Given the description of an element on the screen output the (x, y) to click on. 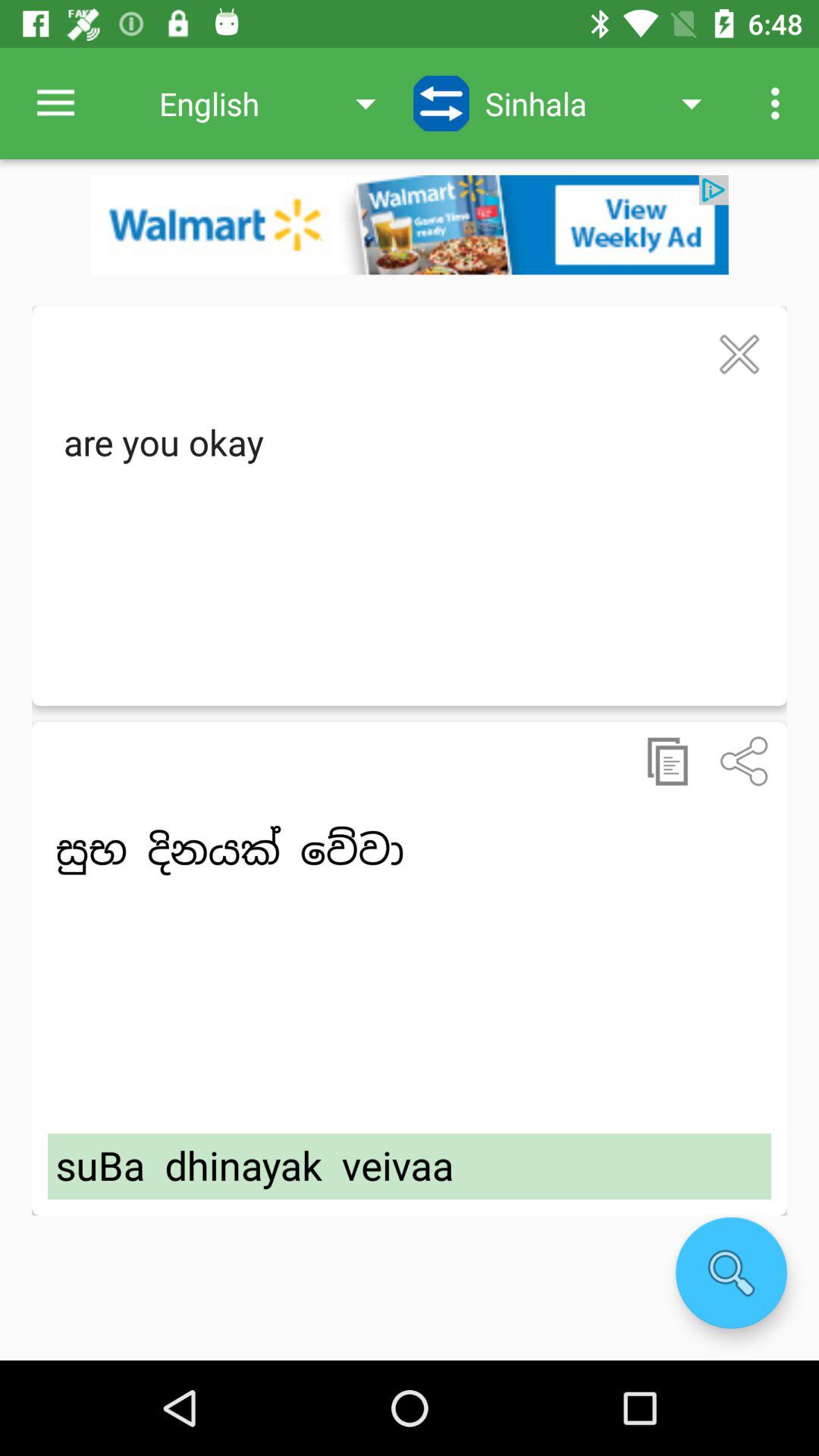
refresh option (441, 103)
